Given the description of an element on the screen output the (x, y) to click on. 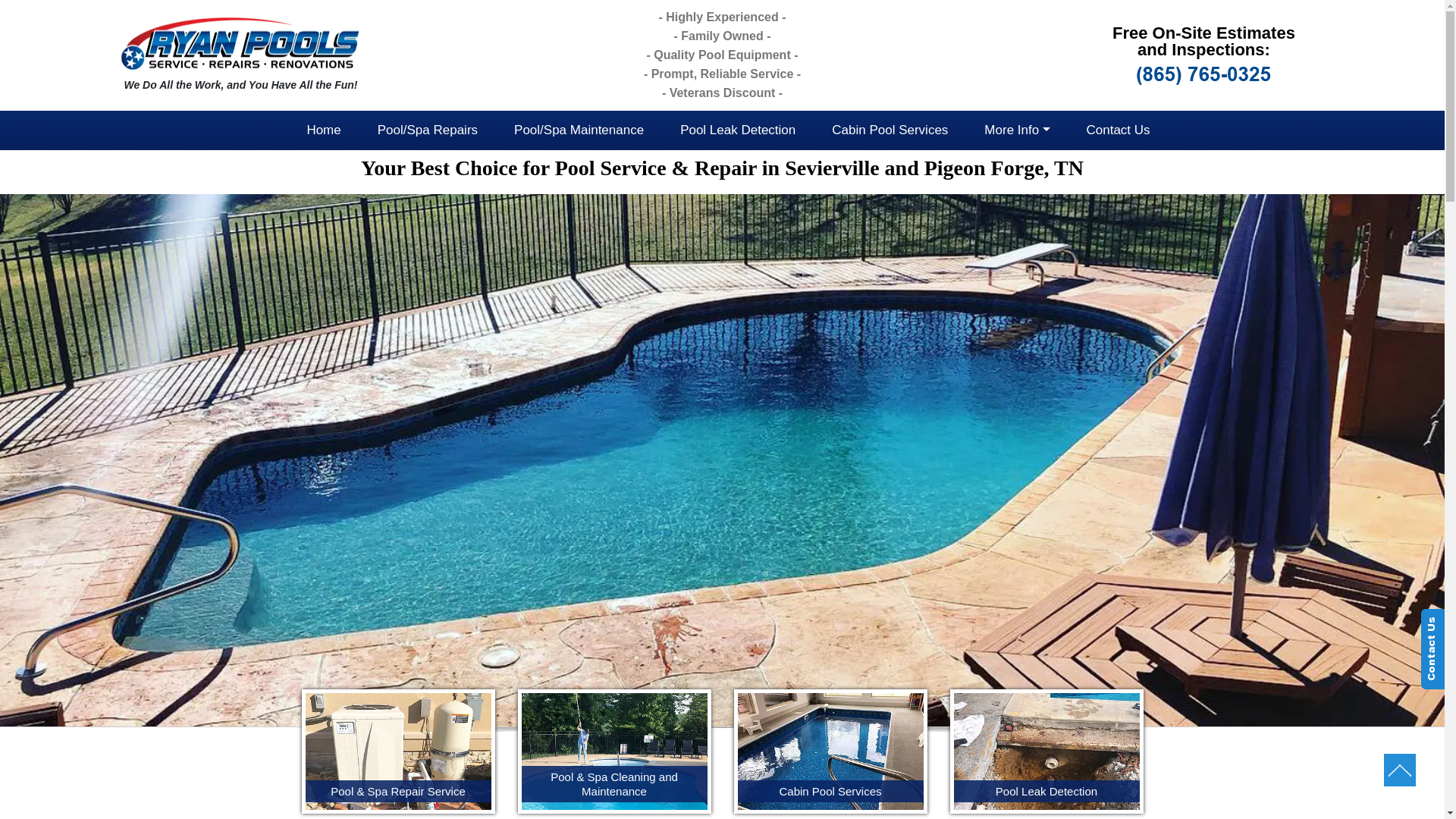
Cabin Pool Services (829, 749)
Pool Leak Detection (737, 129)
Ryan Pools Logo (240, 44)
Home (323, 129)
Cabin Pool Services (889, 129)
More Info (1016, 129)
Contact Us (1117, 129)
Pool Leak Detection (1046, 749)
